Given the description of an element on the screen output the (x, y) to click on. 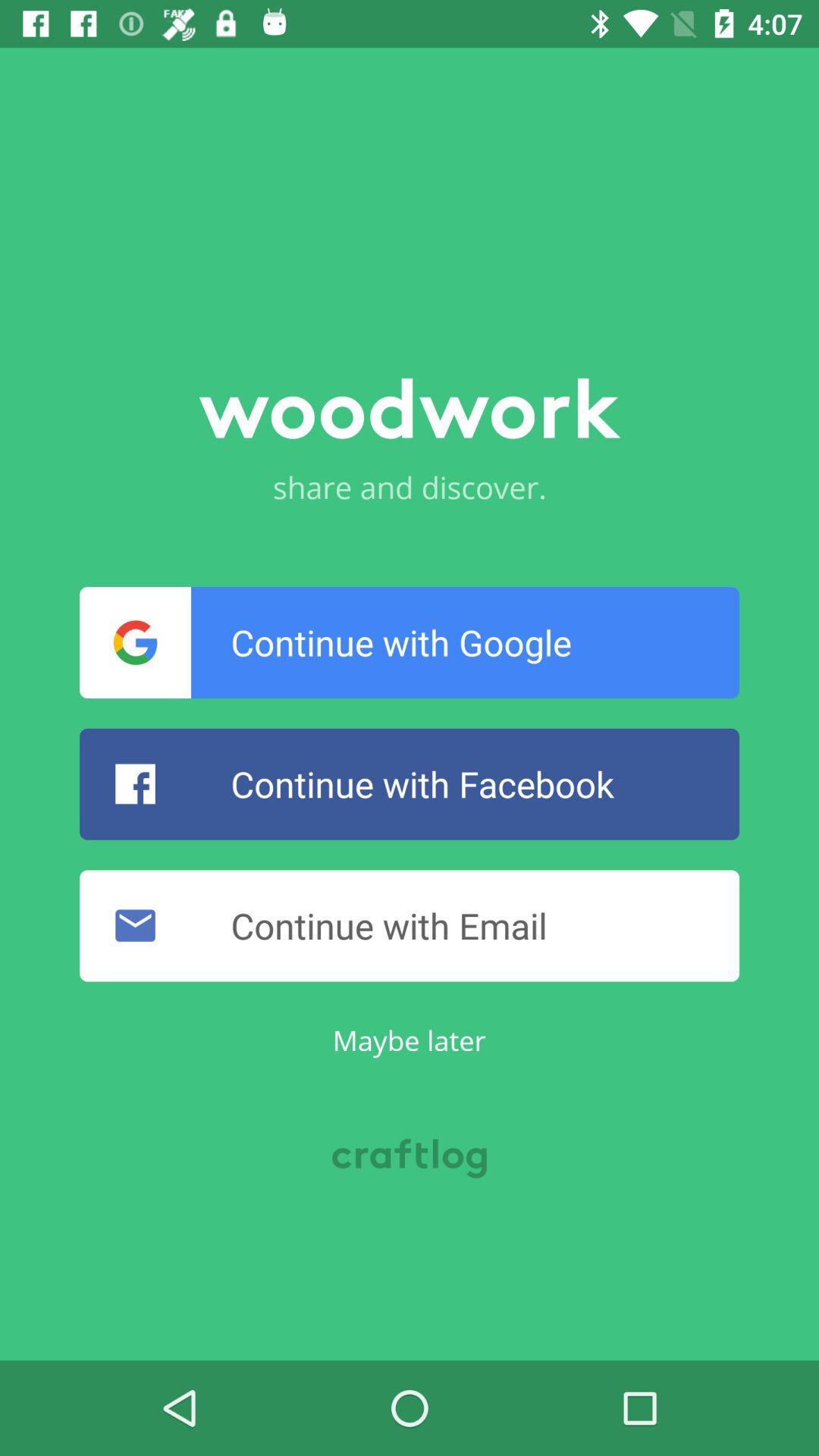
tap the maybe later (408, 1040)
